Given the description of an element on the screen output the (x, y) to click on. 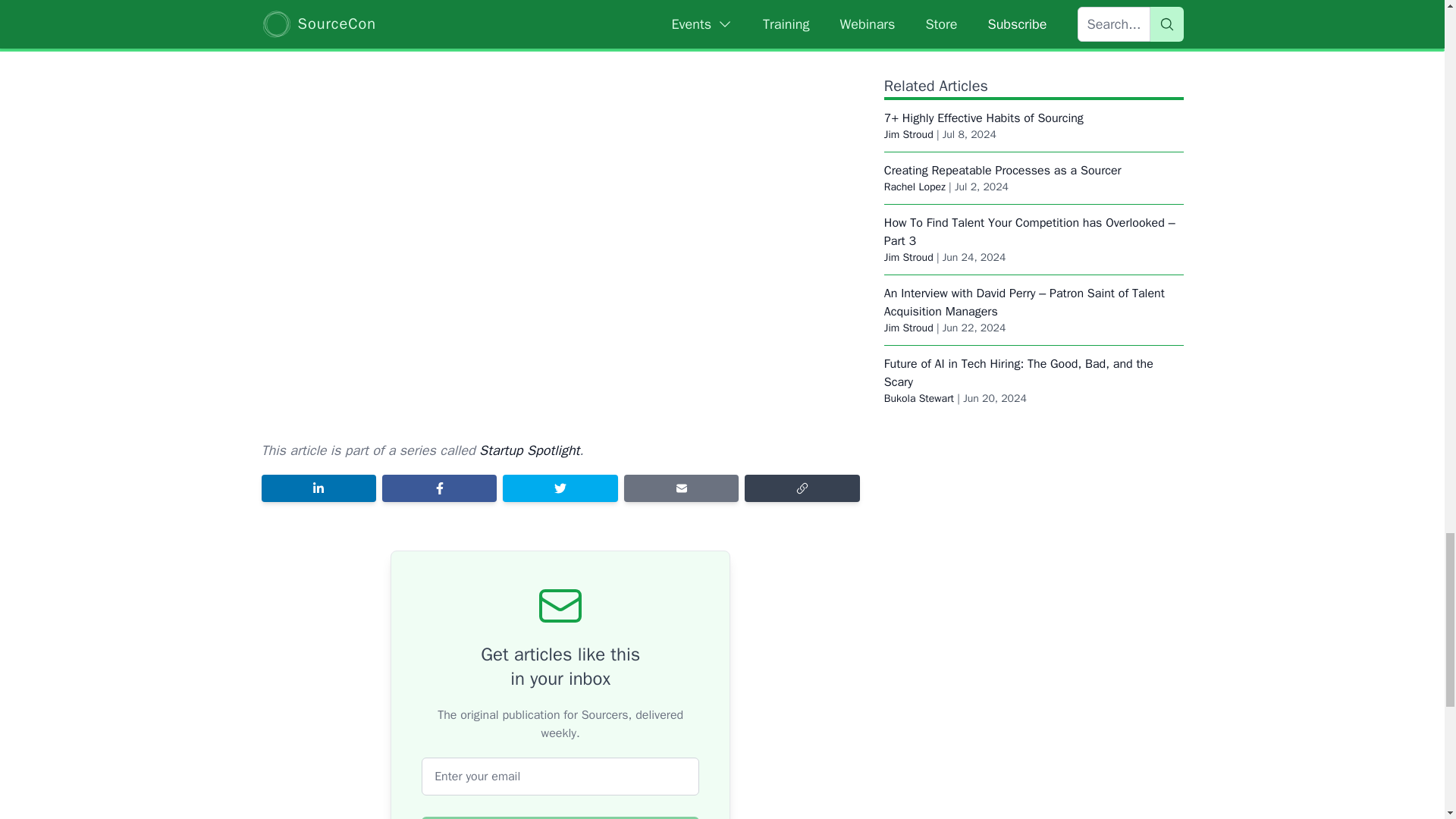
Subscribe (560, 817)
Future of AI in Tech Hiring: The Good, Bad, and the Scary (1018, 252)
Jim Stroud (908, 136)
Rachel Lopez (913, 65)
Startup Spotlight (529, 449)
Bukola Stewart (918, 277)
Jim Stroud (908, 13)
Creating Repeatable Processes as a Sourcer (1002, 49)
Jim Stroud (908, 206)
